Given the description of an element on the screen output the (x, y) to click on. 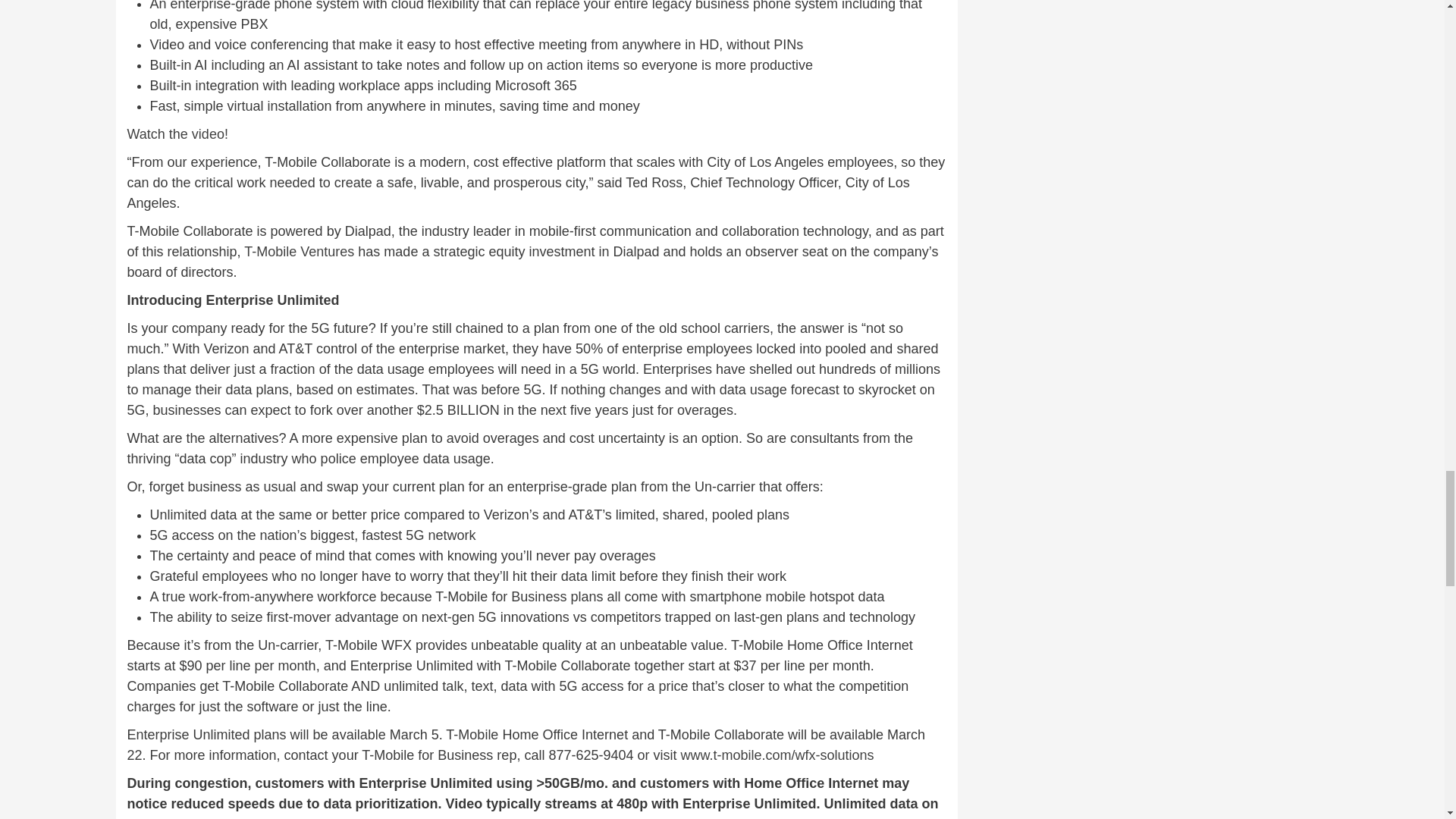
Watch the video! (178, 133)
T-Mobile Ventures (298, 251)
